Given the description of an element on the screen output the (x, y) to click on. 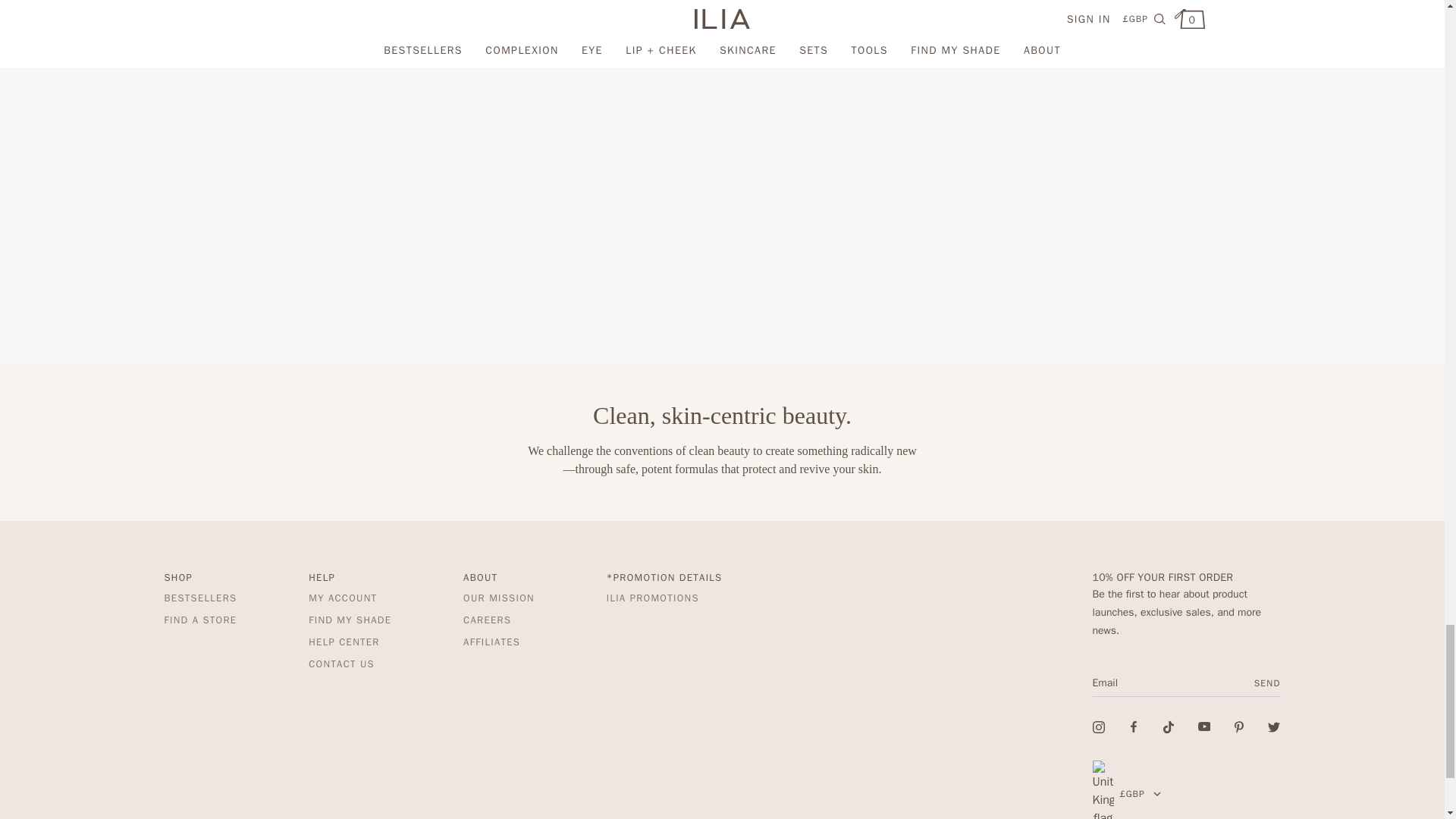
SEND (1263, 683)
